Given the description of an element on the screen output the (x, y) to click on. 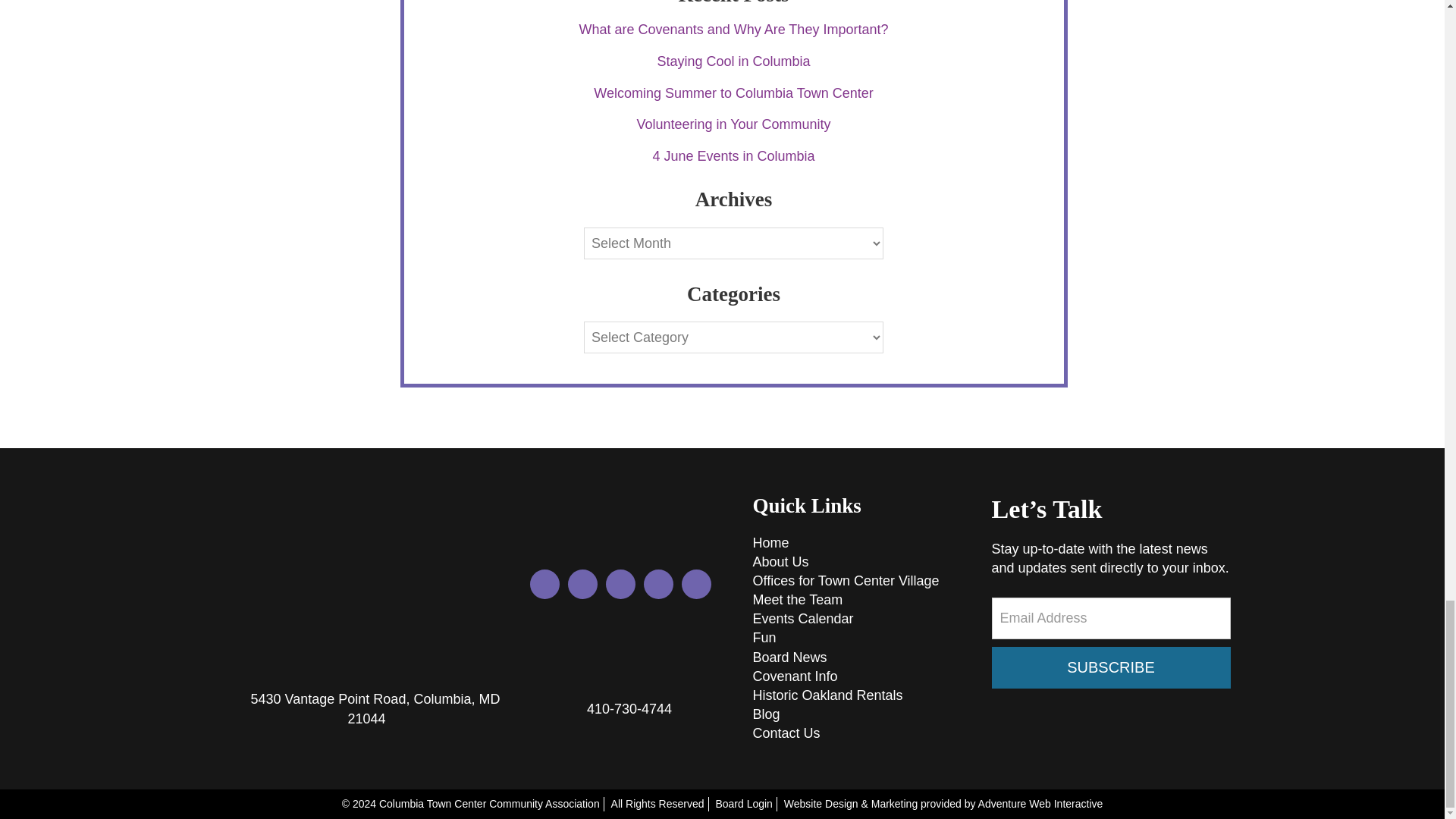
Subscribe (1110, 667)
